Given the description of an element on the screen output the (x, y) to click on. 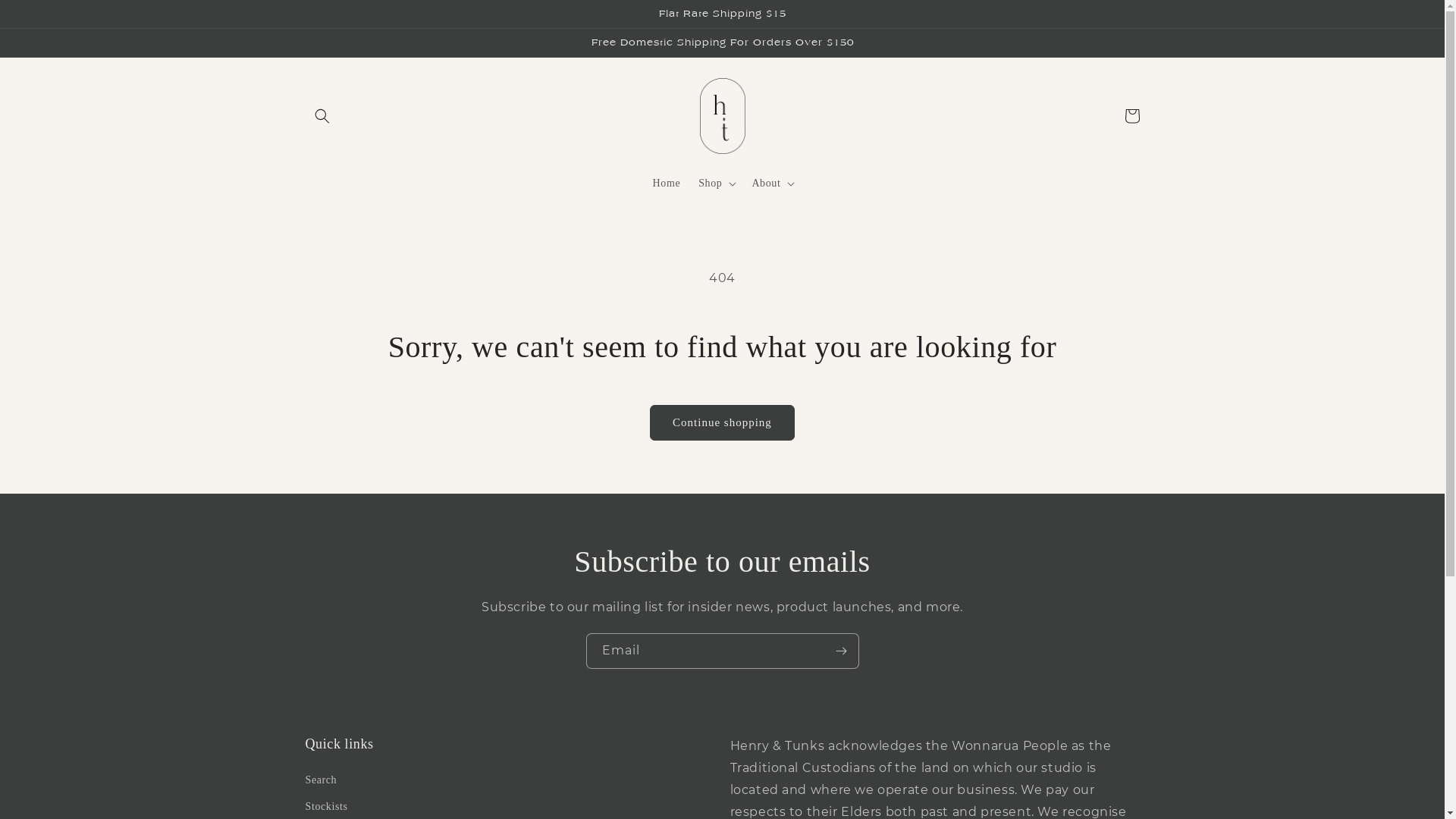
Cart Element type: text (1131, 115)
Home Element type: text (666, 183)
Search Element type: text (320, 781)
Continue shopping Element type: text (721, 422)
